Given the description of an element on the screen output the (x, y) to click on. 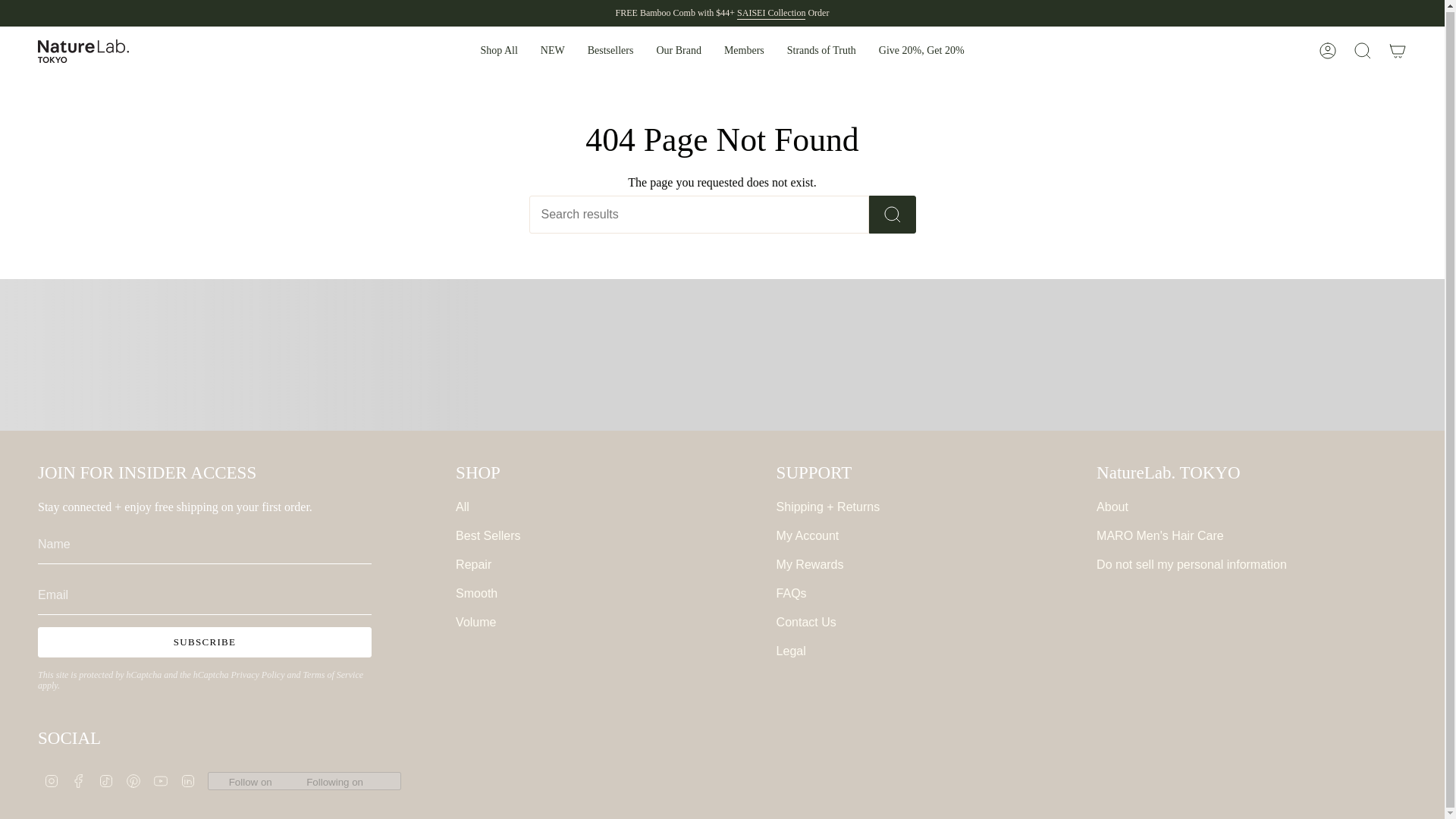
NatureLab Tokyo on Facebook (78, 780)
NatureLab Tokyo on Instagram (51, 780)
SAISEI Collection (770, 14)
Shop All (498, 50)
My Account (1327, 50)
NatureLab Tokyo on Pinterest (133, 780)
NatureLab Tokyo on Linkedin (187, 780)
Saisei Collection (770, 14)
Cart (1397, 50)
Search (1362, 50)
